Given the description of an element on the screen output the (x, y) to click on. 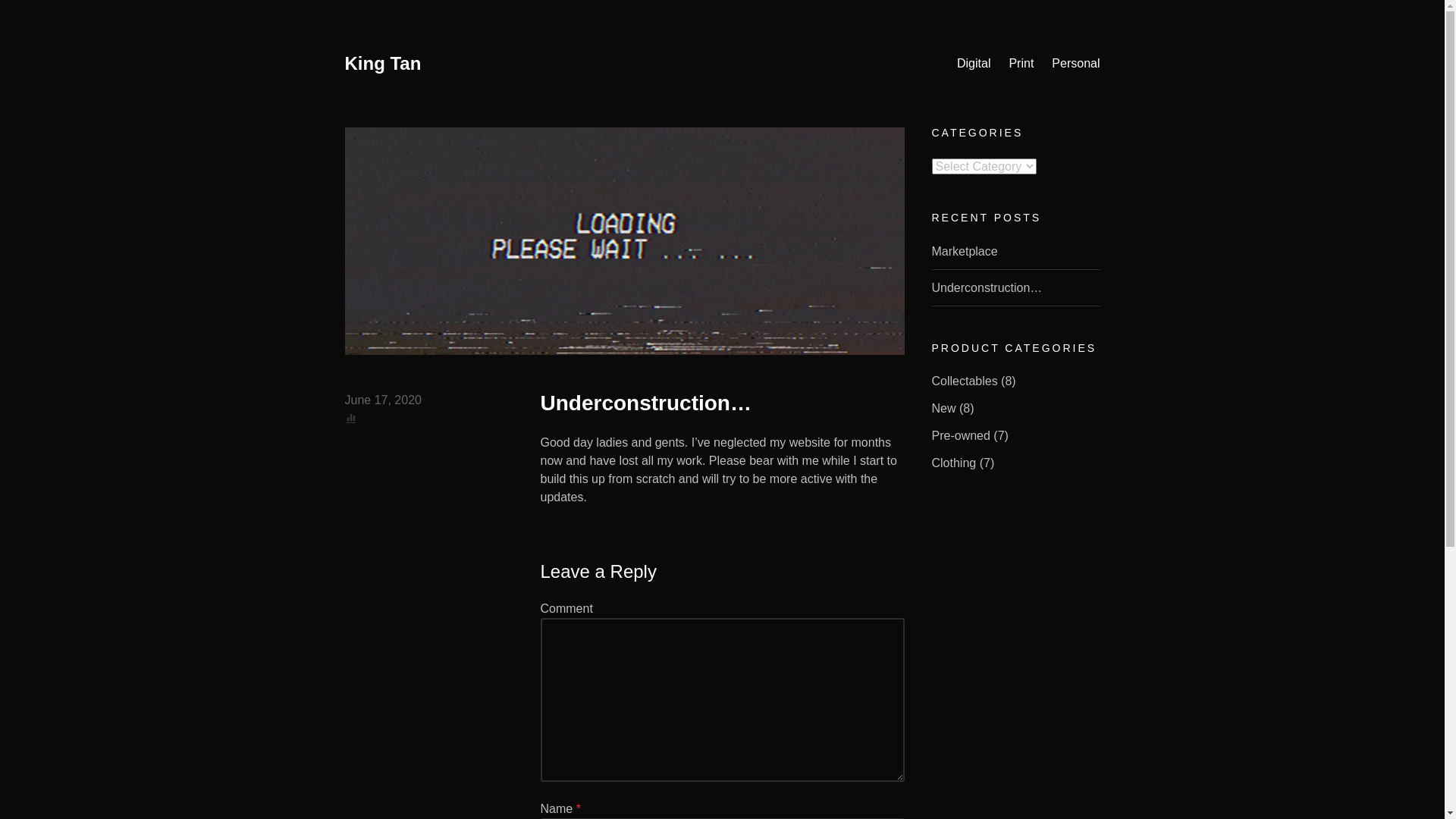
Personal Element type: text (1075, 63)
King Tan Element type: text (382, 63)
New Element type: text (943, 407)
Digital Element type: text (973, 63)
Clothing Element type: text (953, 462)
Collectables Element type: text (964, 380)
Pre-owned Element type: text (960, 435)
Marketplace Element type: text (964, 250)
Print Element type: text (1020, 63)
June 17, 2020 Element type: text (382, 399)
